Given the description of an element on the screen output the (x, y) to click on. 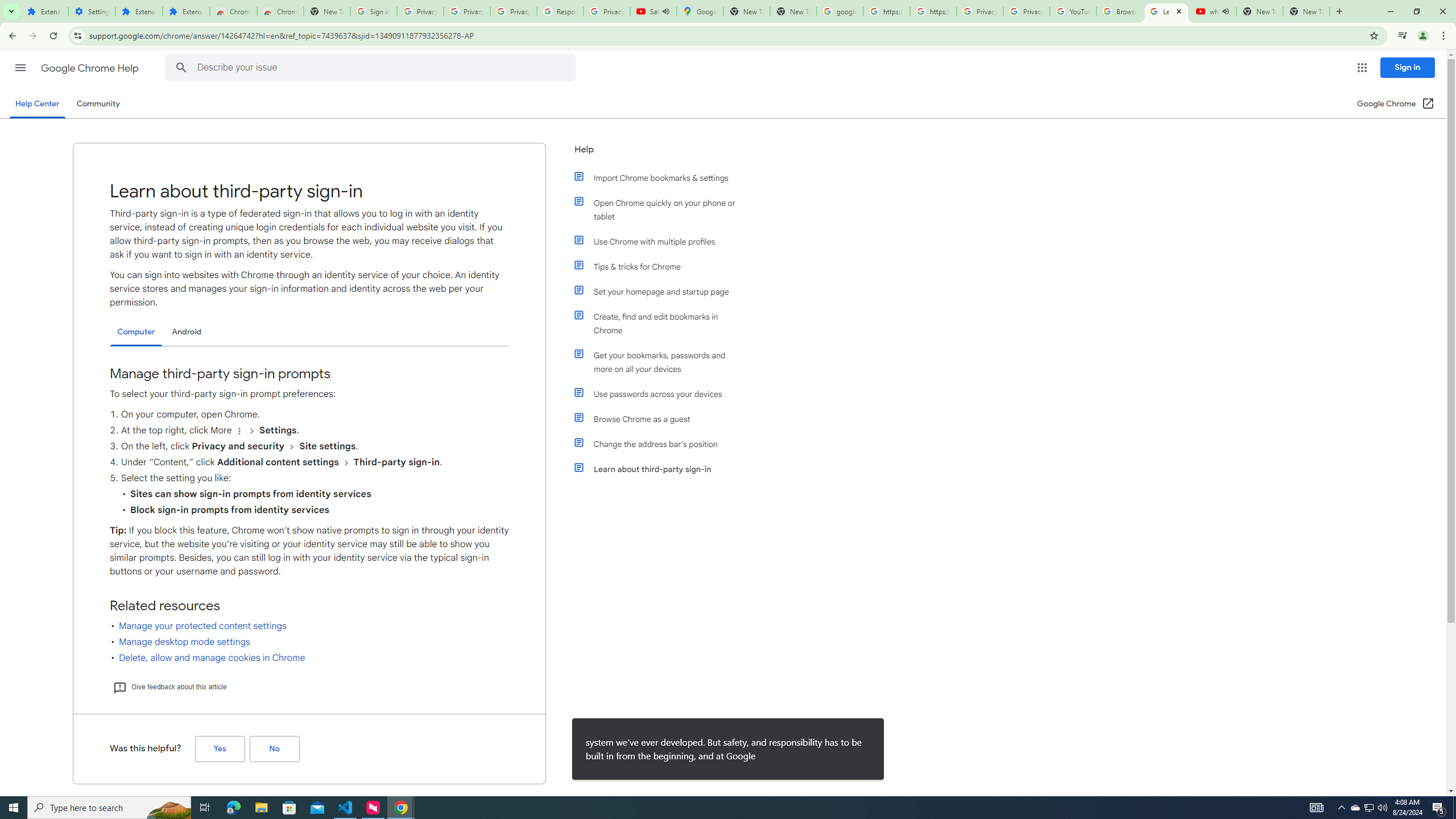
Learn about third-party sign-in (661, 469)
Settings (91, 11)
Yes (Was this helpful?) (219, 749)
New Tab (326, 11)
YouTube (1073, 11)
Browse Chrome as a guest - Computer - Google Chrome Help (1120, 11)
Help Center (36, 103)
Manage your protected content settings (202, 626)
Chrome Web Store - Themes (279, 11)
Mute tab (1225, 10)
